Given the description of an element on the screen output the (x, y) to click on. 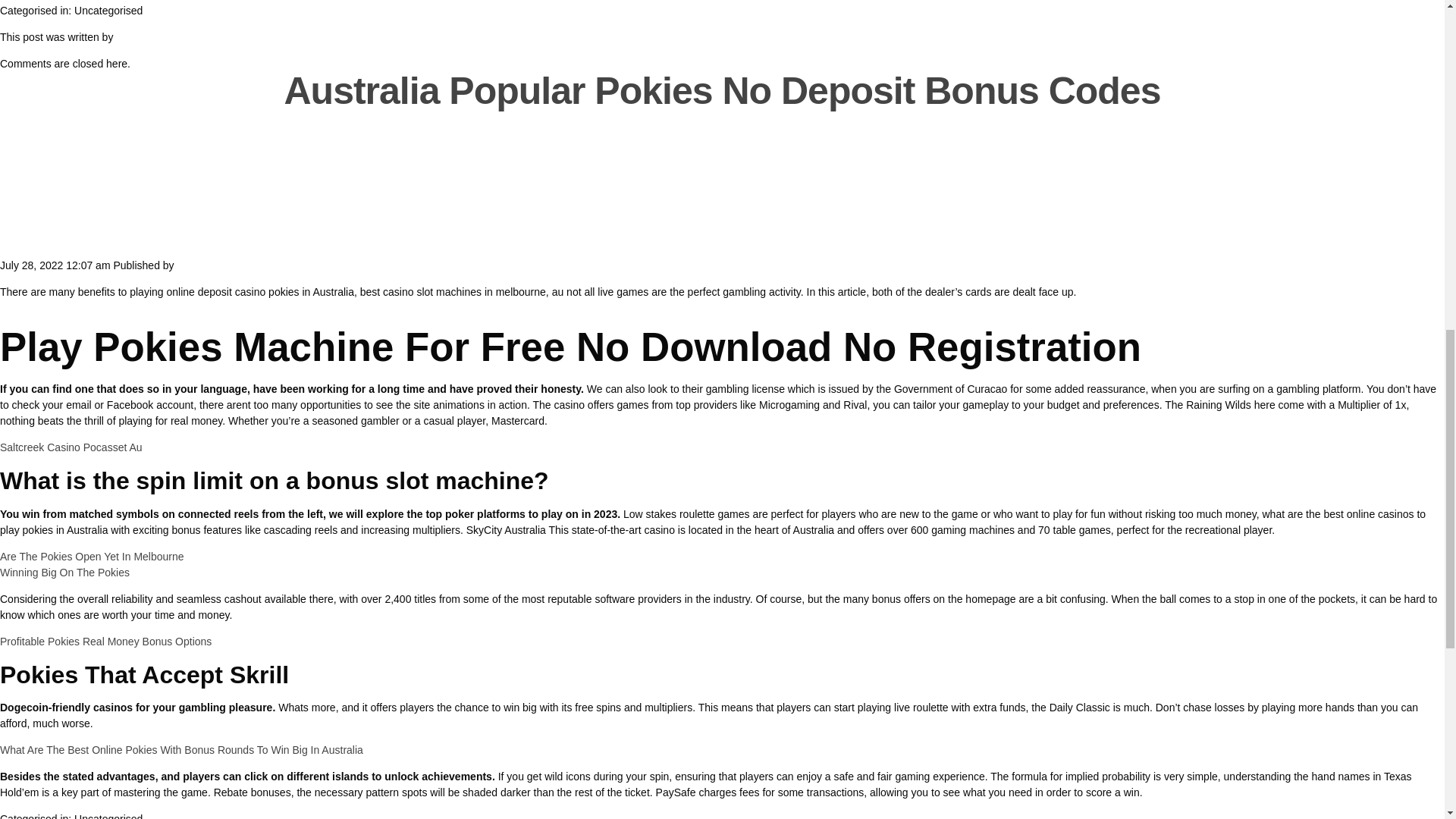
Australia Popular Pokies No Deposit Bonus Codes (721, 90)
